Given the description of an element on the screen output the (x, y) to click on. 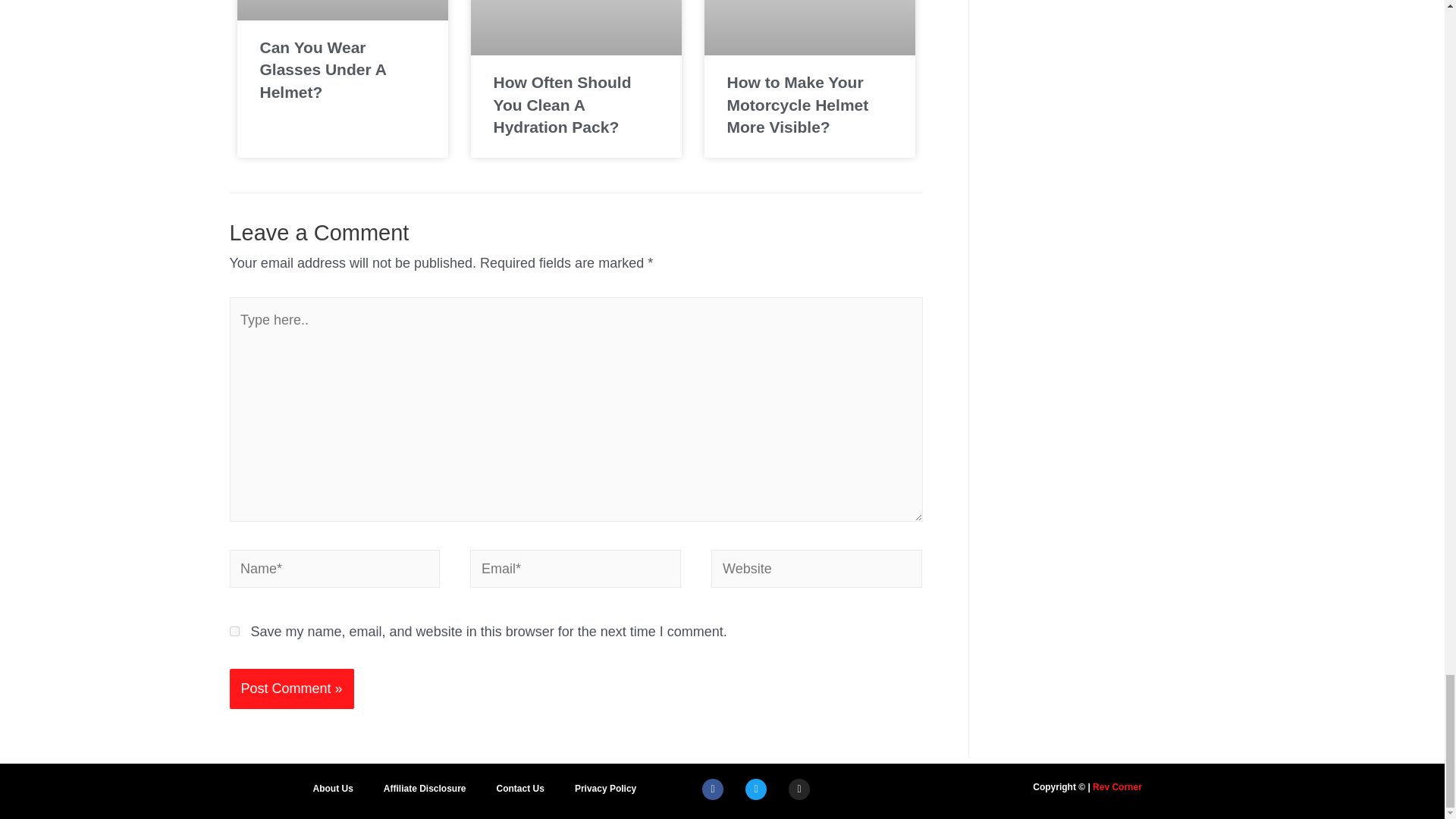
Can You Wear Glasses Under A Helmet? (322, 69)
How to Make Your Motorcycle Helmet More Visible? (796, 104)
About Us (332, 788)
yes (233, 631)
How Often Should You Clean A Hydration Pack? (561, 104)
